Given the description of an element on the screen output the (x, y) to click on. 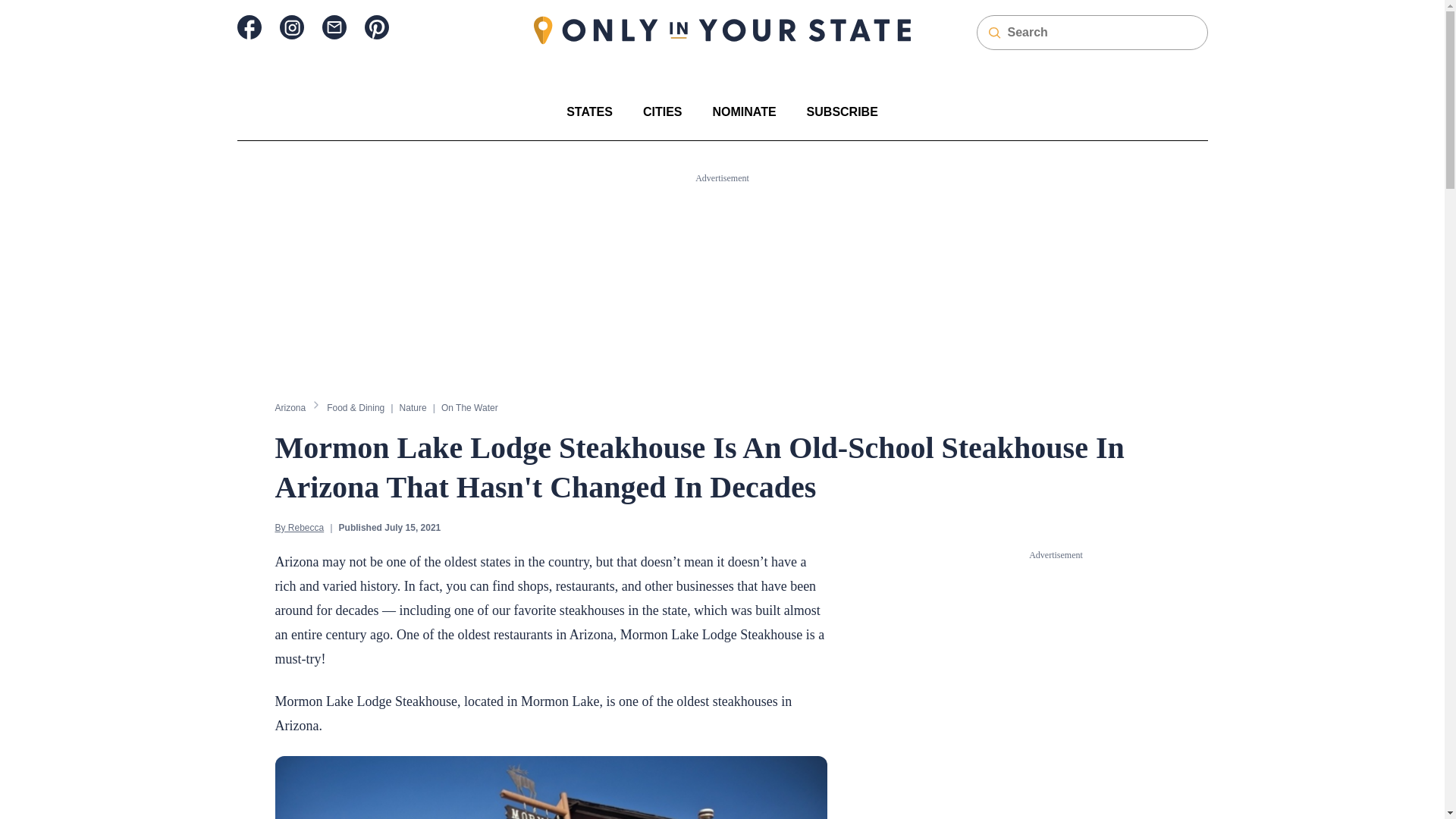
On The Water (469, 407)
STATES (589, 111)
facebook (247, 27)
instagram (290, 27)
pinterest (376, 27)
newsletter (333, 27)
Search (21, 7)
Only in Your State (722, 30)
Nature (412, 407)
